Given the description of an element on the screen output the (x, y) to click on. 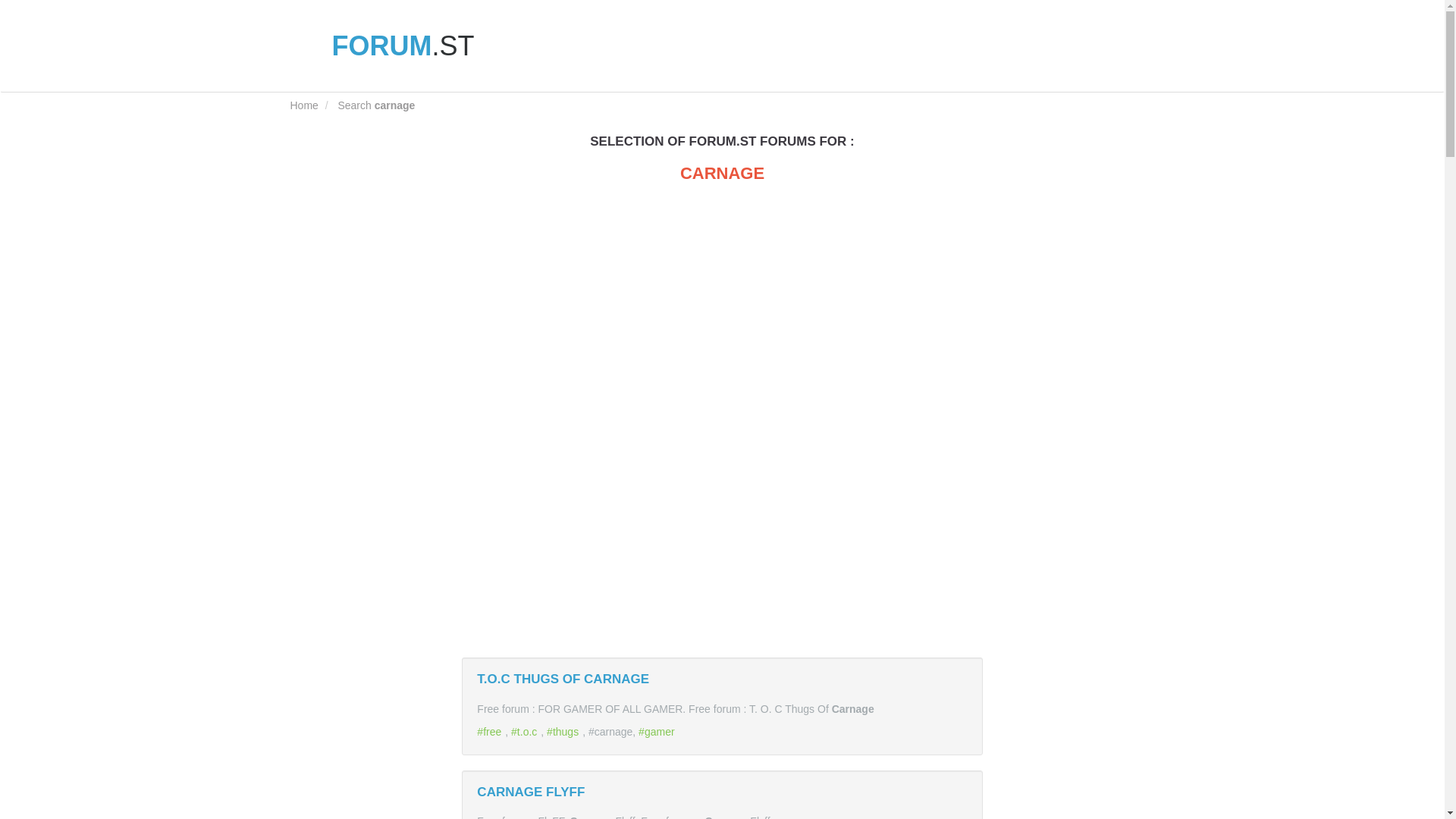
Home (303, 105)
thugs (564, 731)
t.o.c (525, 731)
thugs (564, 731)
gamer (658, 731)
free (491, 731)
T.O.C THUGS OF CARNAGE (563, 678)
CARNAGE FLYFF (531, 790)
t.o.c (525, 731)
free (491, 731)
FORUM.ST (382, 45)
gamer (658, 731)
